Given the description of an element on the screen output the (x, y) to click on. 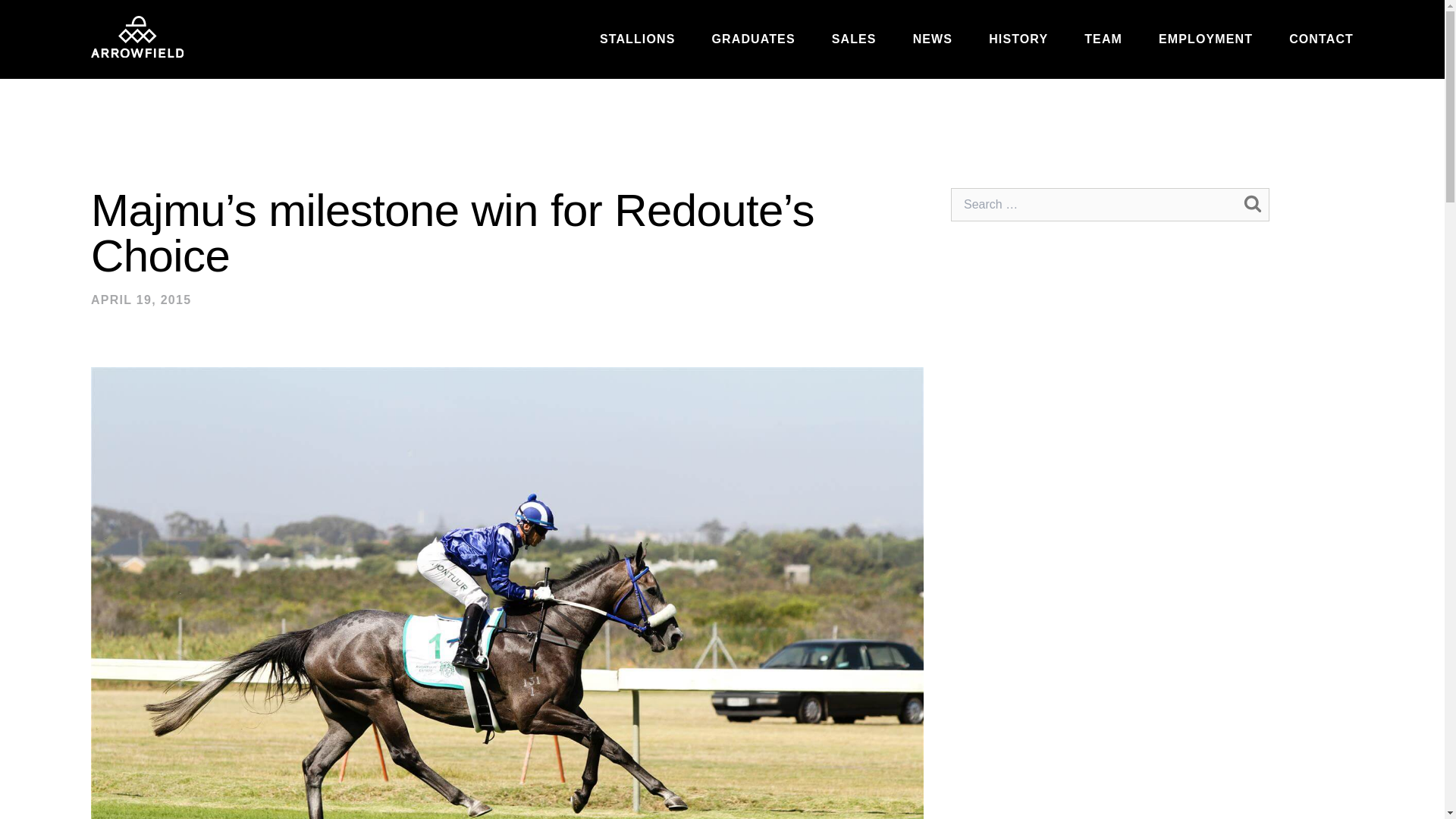
HISTORY (1018, 39)
NEWS (932, 39)
GRADUATES (752, 39)
EMPLOYMENT (1205, 39)
TEAM (1103, 39)
STALLIONS (637, 39)
CONTACT (1321, 39)
SALES (853, 39)
Return to the homepage (136, 36)
